Given the description of an element on the screen output the (x, y) to click on. 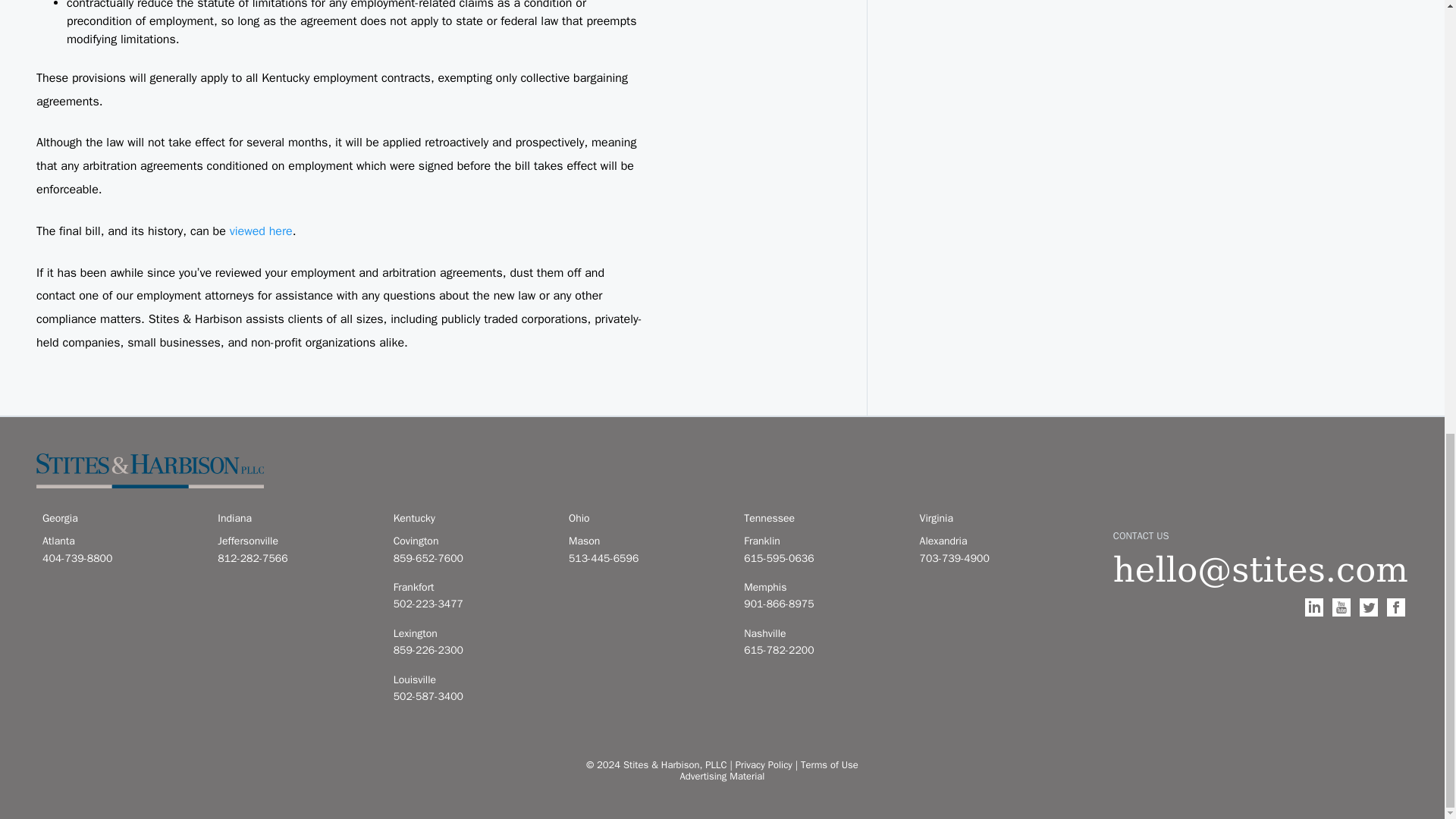
404-739-8800 (120, 558)
Covington (471, 541)
Nashville (822, 633)
Louisville (471, 679)
615-782-2200 (822, 650)
859-226-2300 (471, 650)
Memphis (822, 587)
Frankfort (471, 587)
901-866-8975 (822, 604)
Alexandria (998, 541)
